Given the description of an element on the screen output the (x, y) to click on. 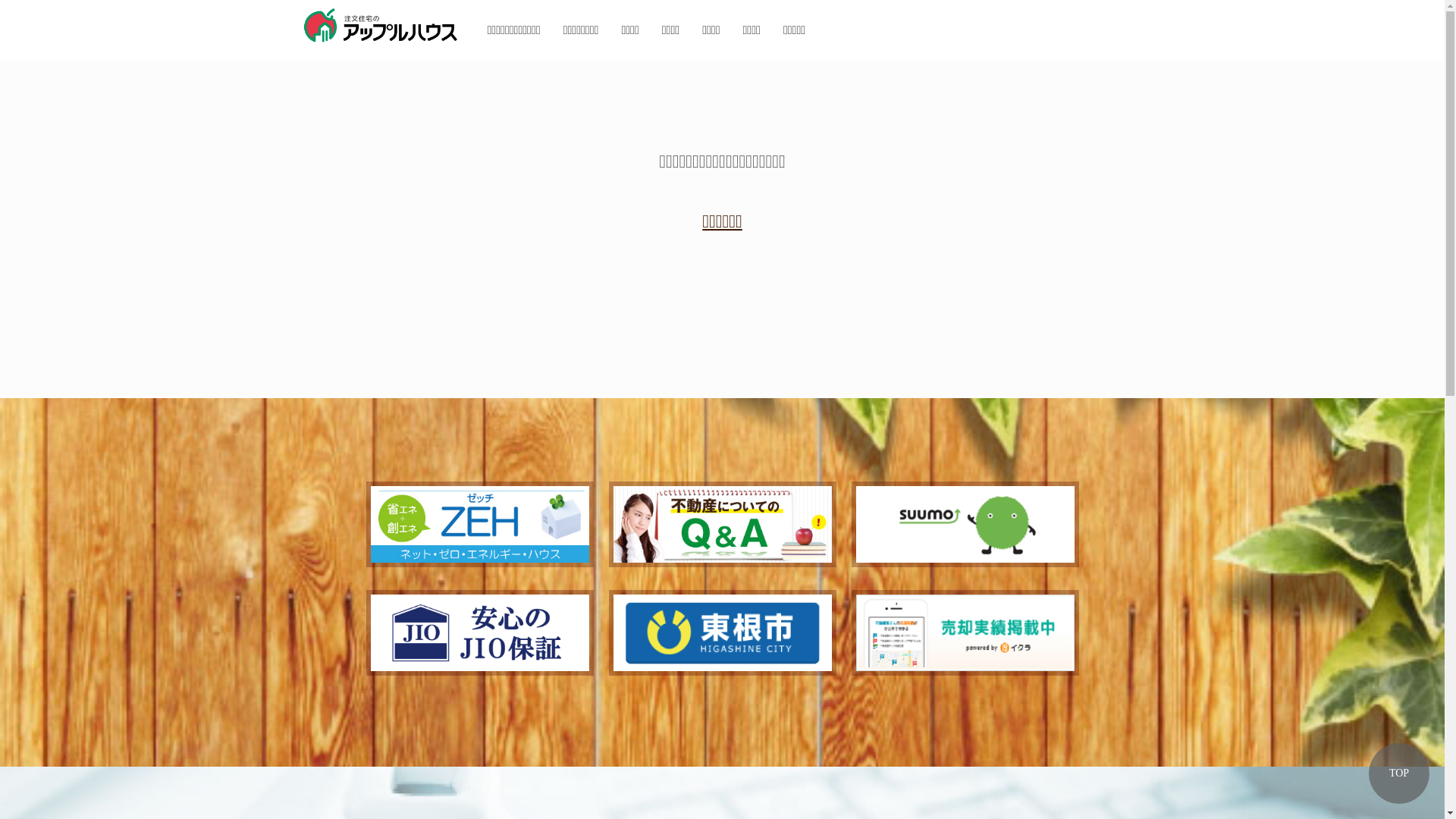
TOP Element type: text (1398, 773)
